Given the description of an element on the screen output the (x, y) to click on. 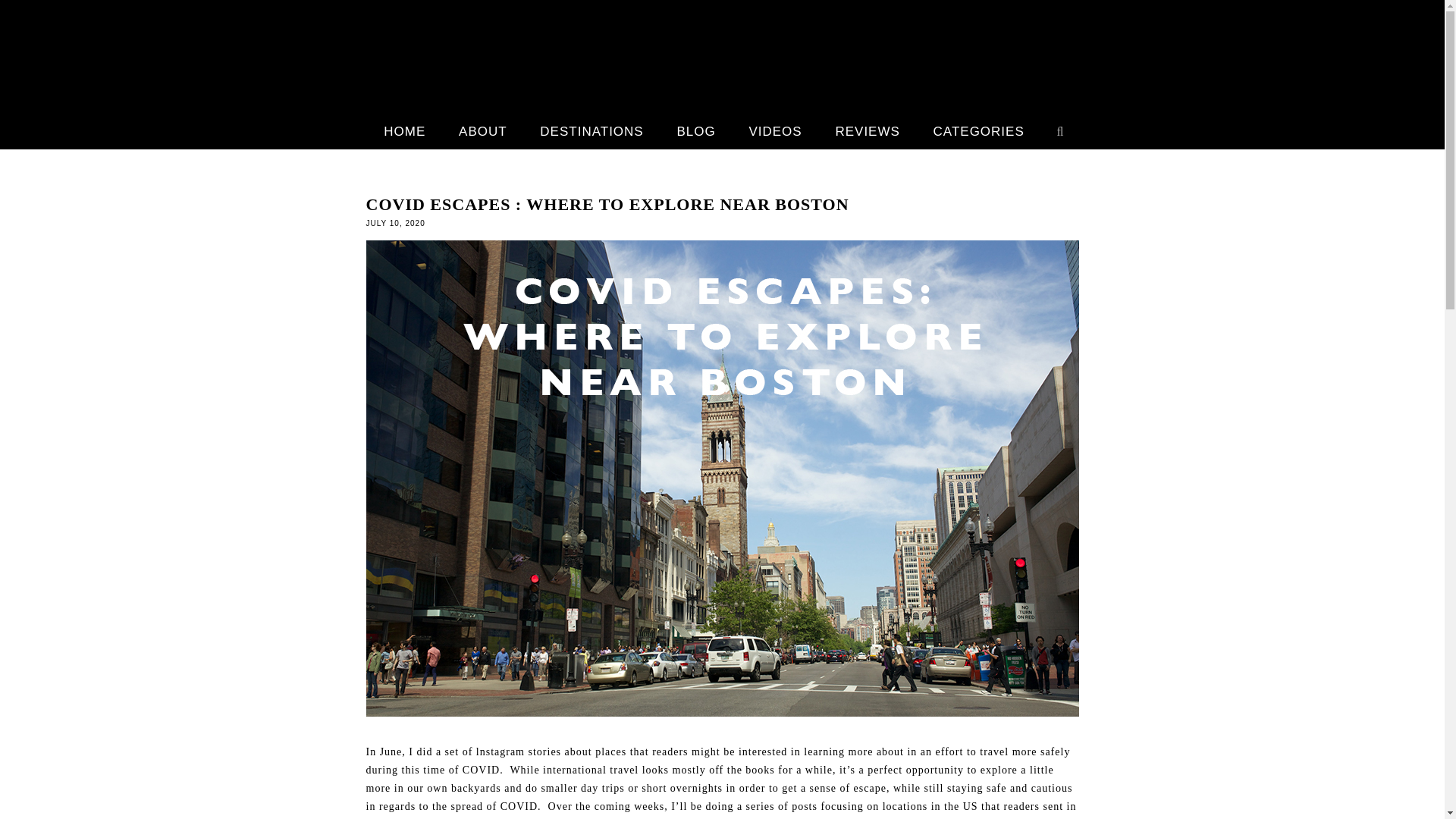
ABOUT (482, 131)
LAND OF MARVELS (721, 52)
REVIEWS (867, 131)
DESTINATIONS (591, 131)
HOME (404, 131)
VIDEOS (774, 131)
CATEGORIES (978, 131)
BLOG (695, 131)
